Given the description of an element on the screen output the (x, y) to click on. 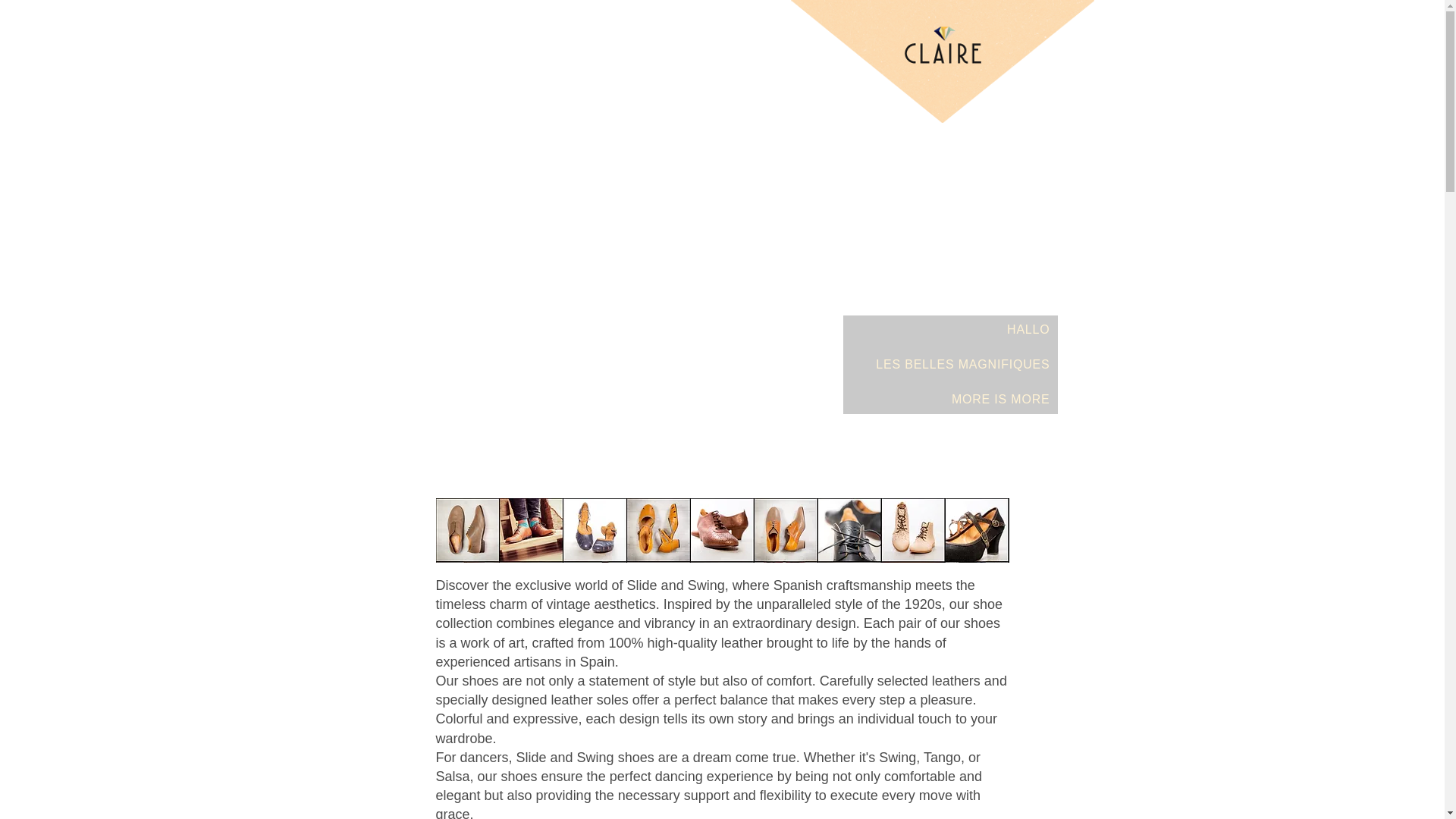
LES BELLES MAGNIFIQUES (950, 364)
HALLO (950, 329)
MORE IS MORE (950, 399)
